Given the description of an element on the screen output the (x, y) to click on. 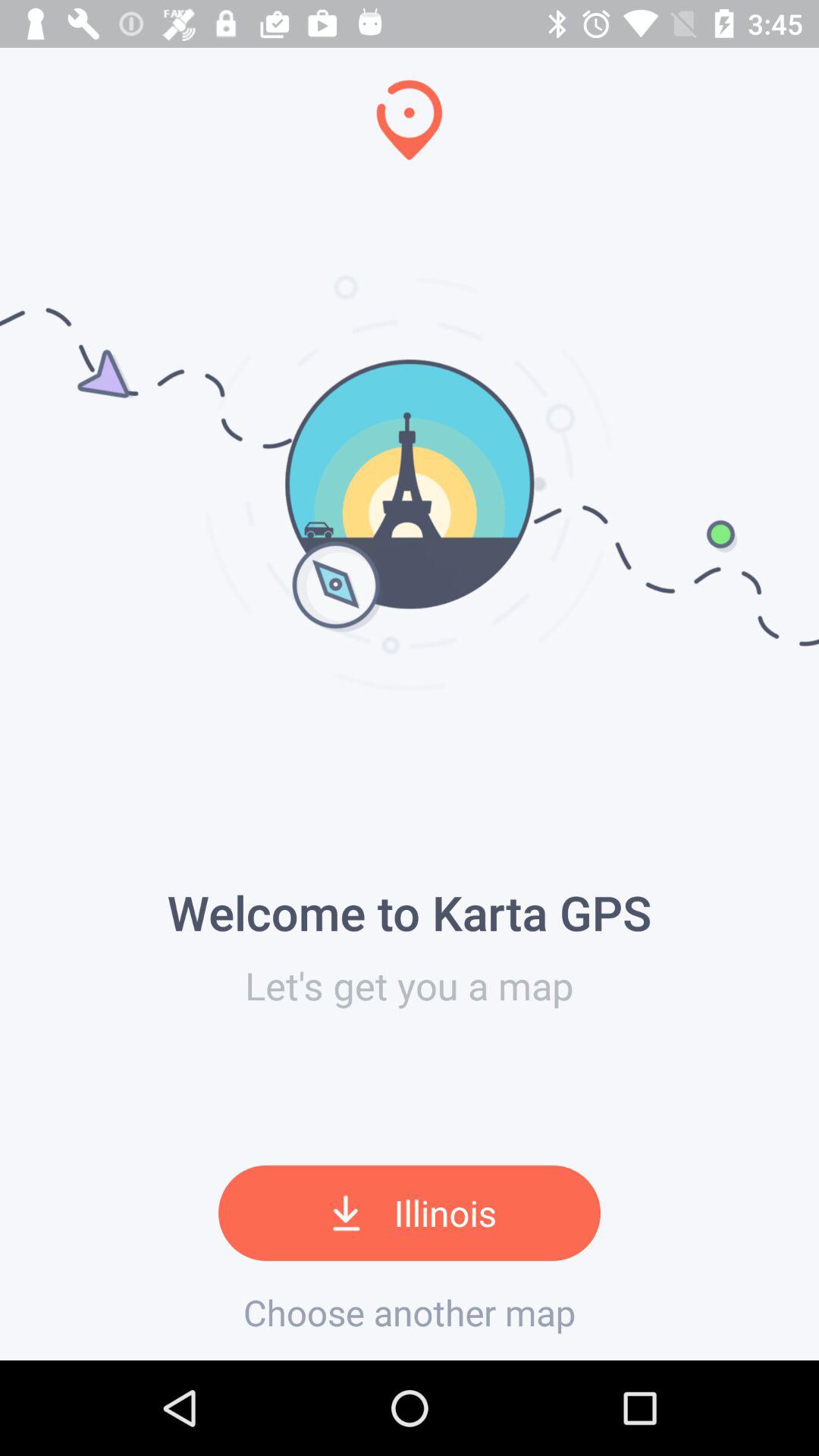
choose the choose another map (409, 1312)
